Given the description of an element on the screen output the (x, y) to click on. 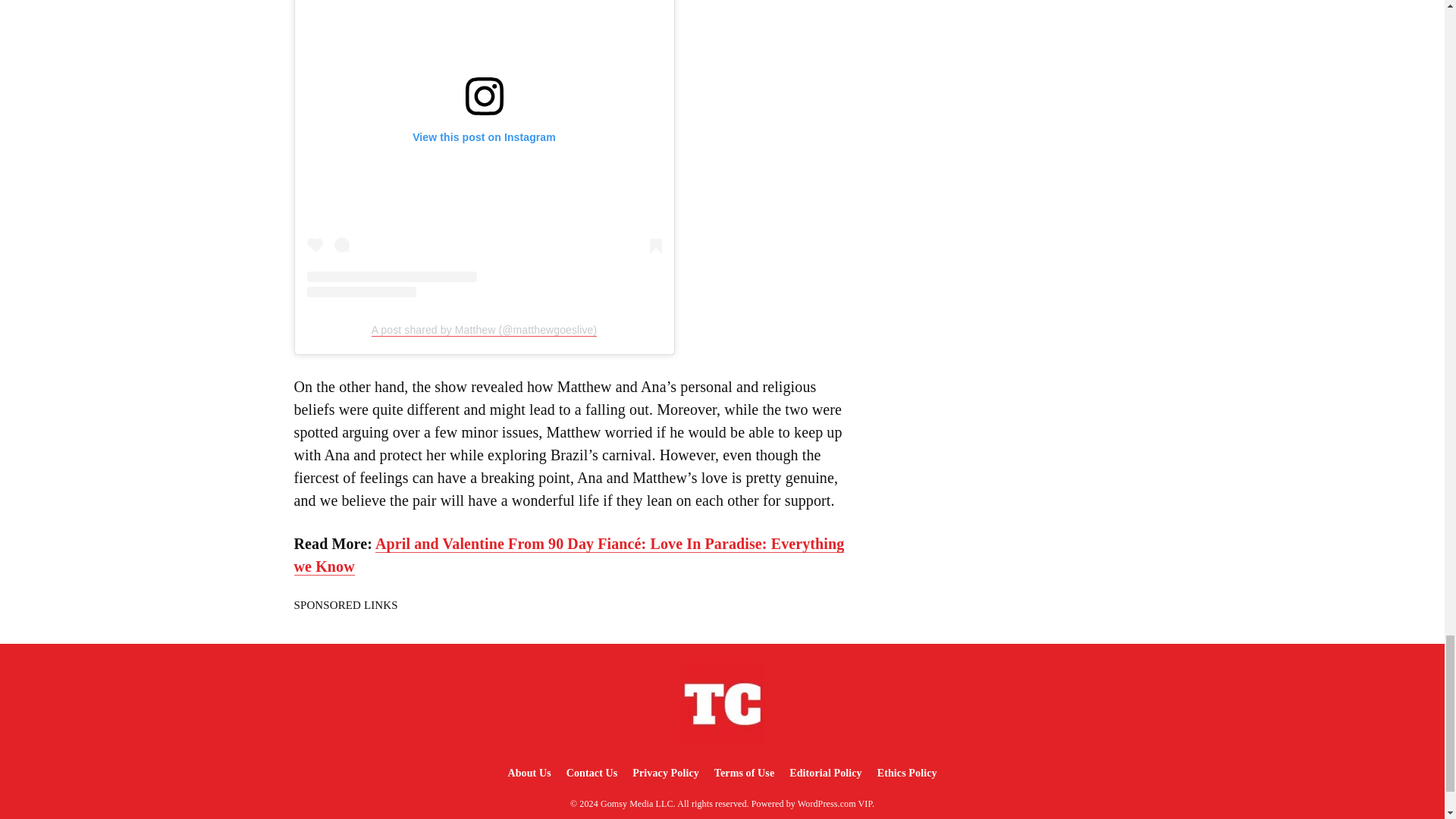
About Us (528, 772)
Editorial Policy (825, 772)
Ethics Policy (906, 772)
Privacy Policy (665, 772)
WordPress.com VIP (834, 803)
Terms of Use (743, 772)
View this post on Instagram (483, 148)
Contact Us (592, 772)
